Given the description of an element on the screen output the (x, y) to click on. 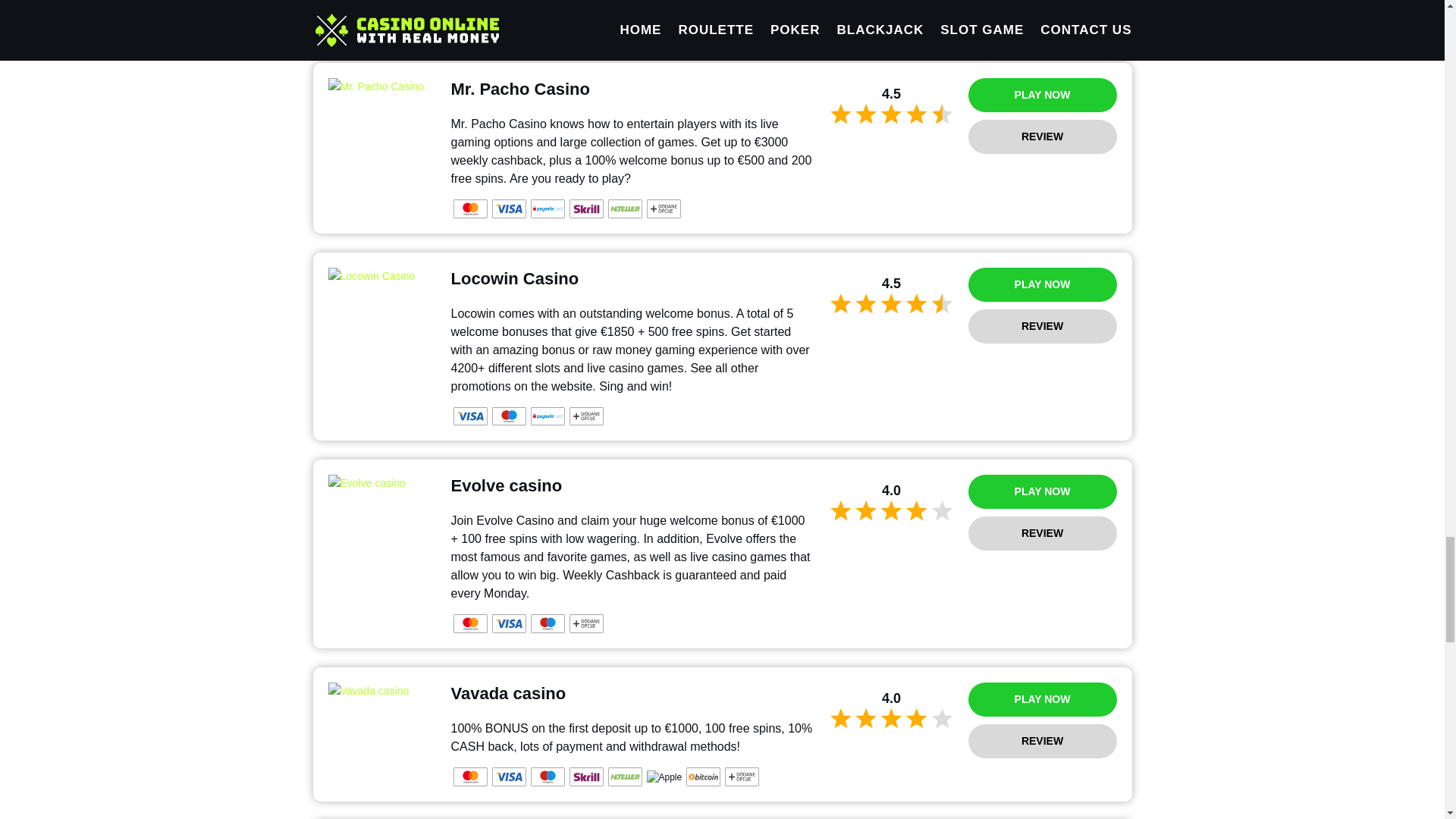
REVIEW (1042, 136)
PLAY NOW (1042, 94)
